Given the description of an element on the screen output the (x, y) to click on. 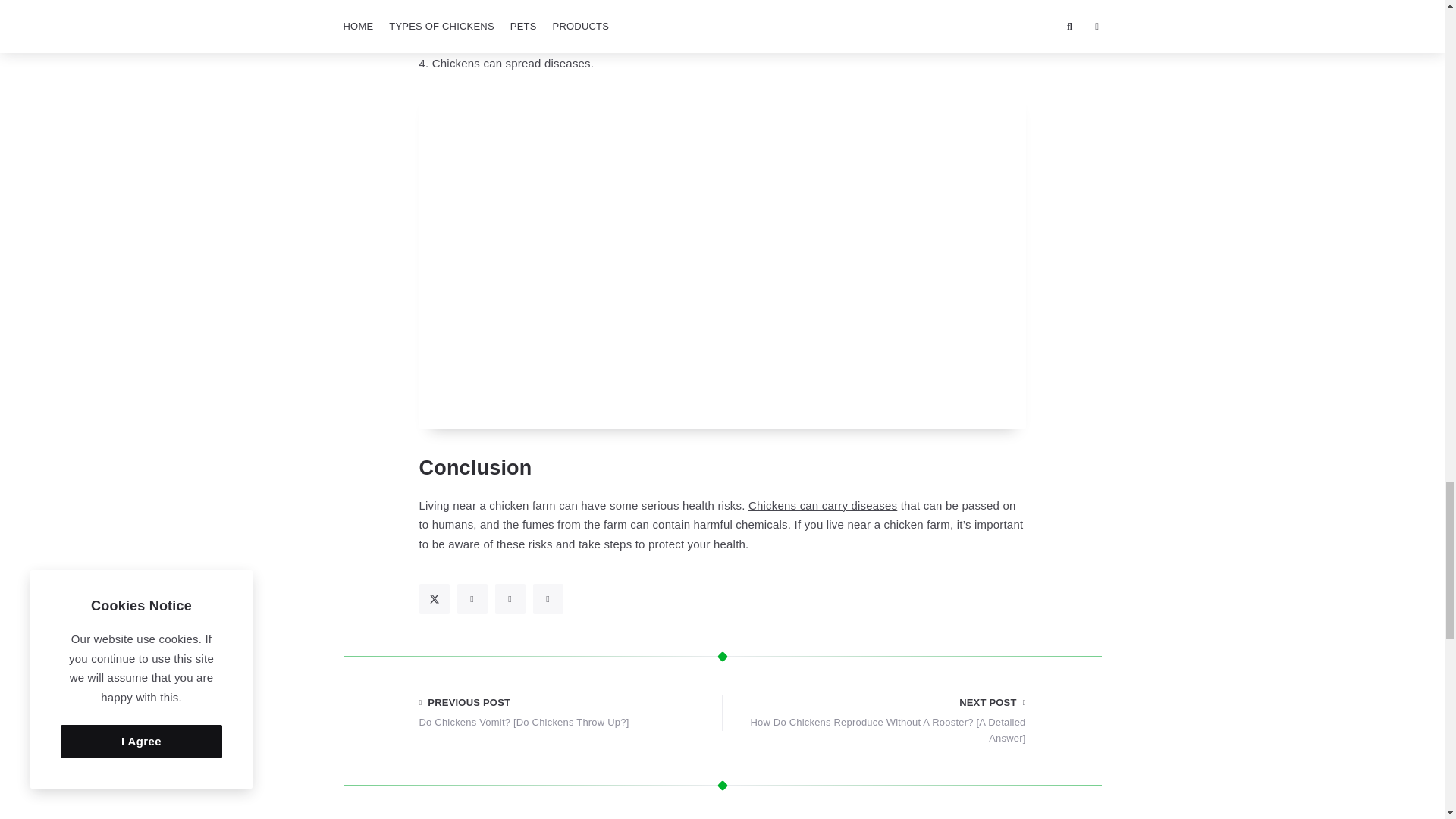
Share on Reddit (547, 598)
Share on Pinterest (509, 598)
Share on Twitter X (433, 598)
Share on Facebook (471, 598)
